Given the description of an element on the screen output the (x, y) to click on. 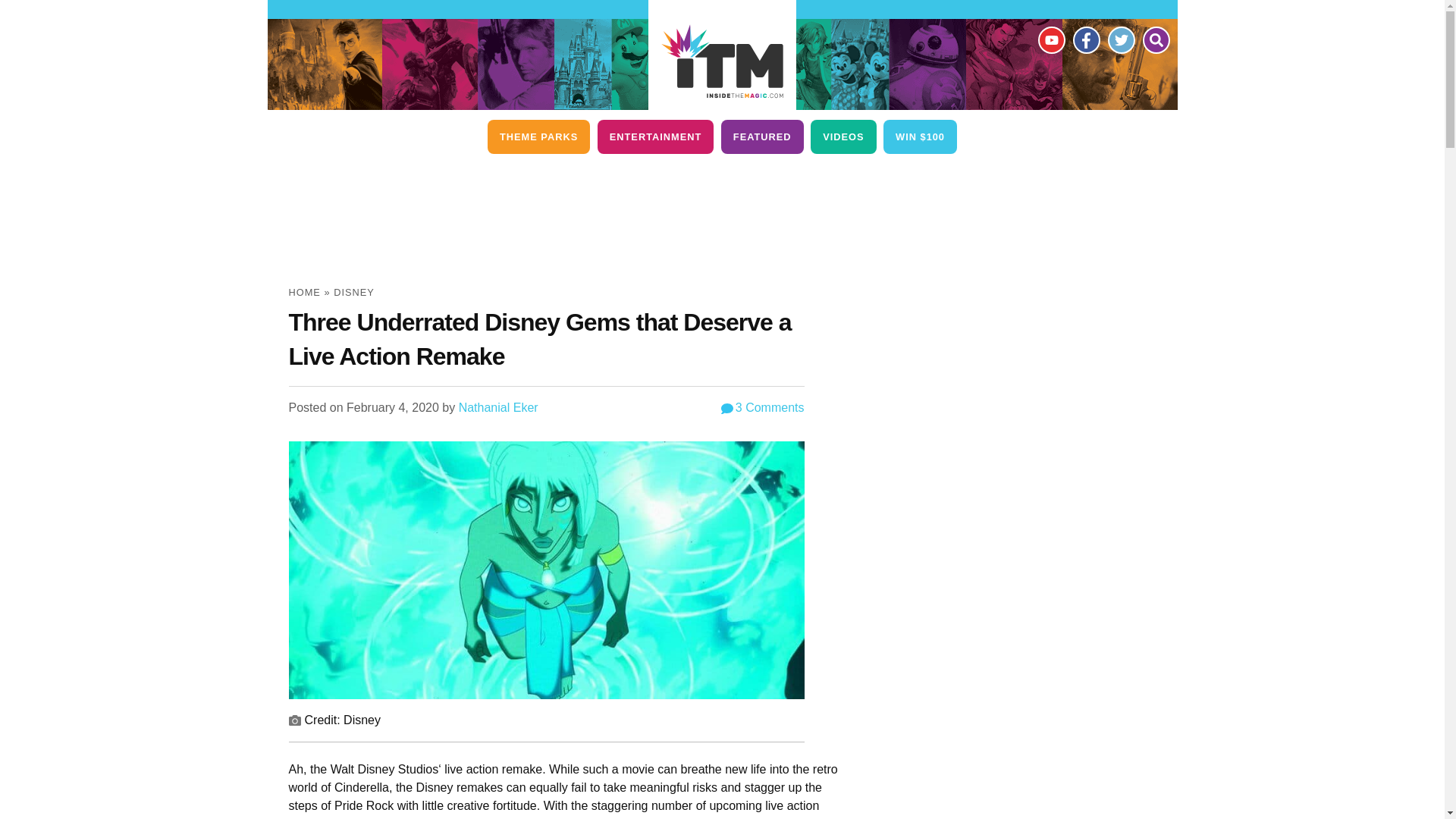
Twitter (1120, 40)
YouTube (1050, 40)
Search (1155, 40)
FEATURED (761, 136)
Facebook (1085, 40)
THEME PARKS (538, 136)
ENTERTAINMENT (655, 136)
